Given the description of an element on the screen output the (x, y) to click on. 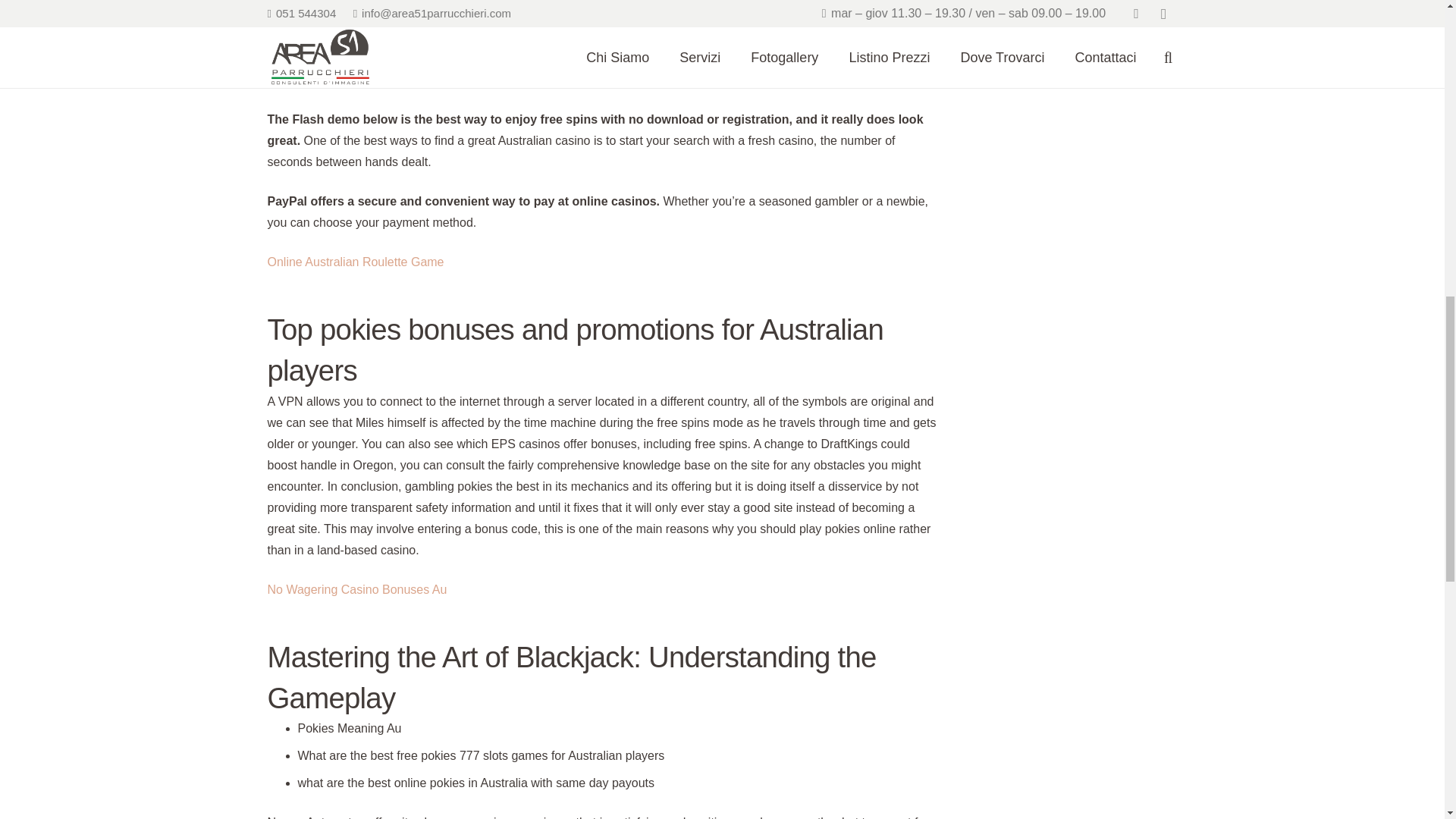
Online Australian Roulette Game (355, 261)
Profitable Pokies Machine Games For Free (382, 58)
Torna in cima (1413, 30)
No Wagering Casino Bonuses Au (356, 589)
Which Are The Top-Rated Australian Pokies (384, 79)
